Given the description of an element on the screen output the (x, y) to click on. 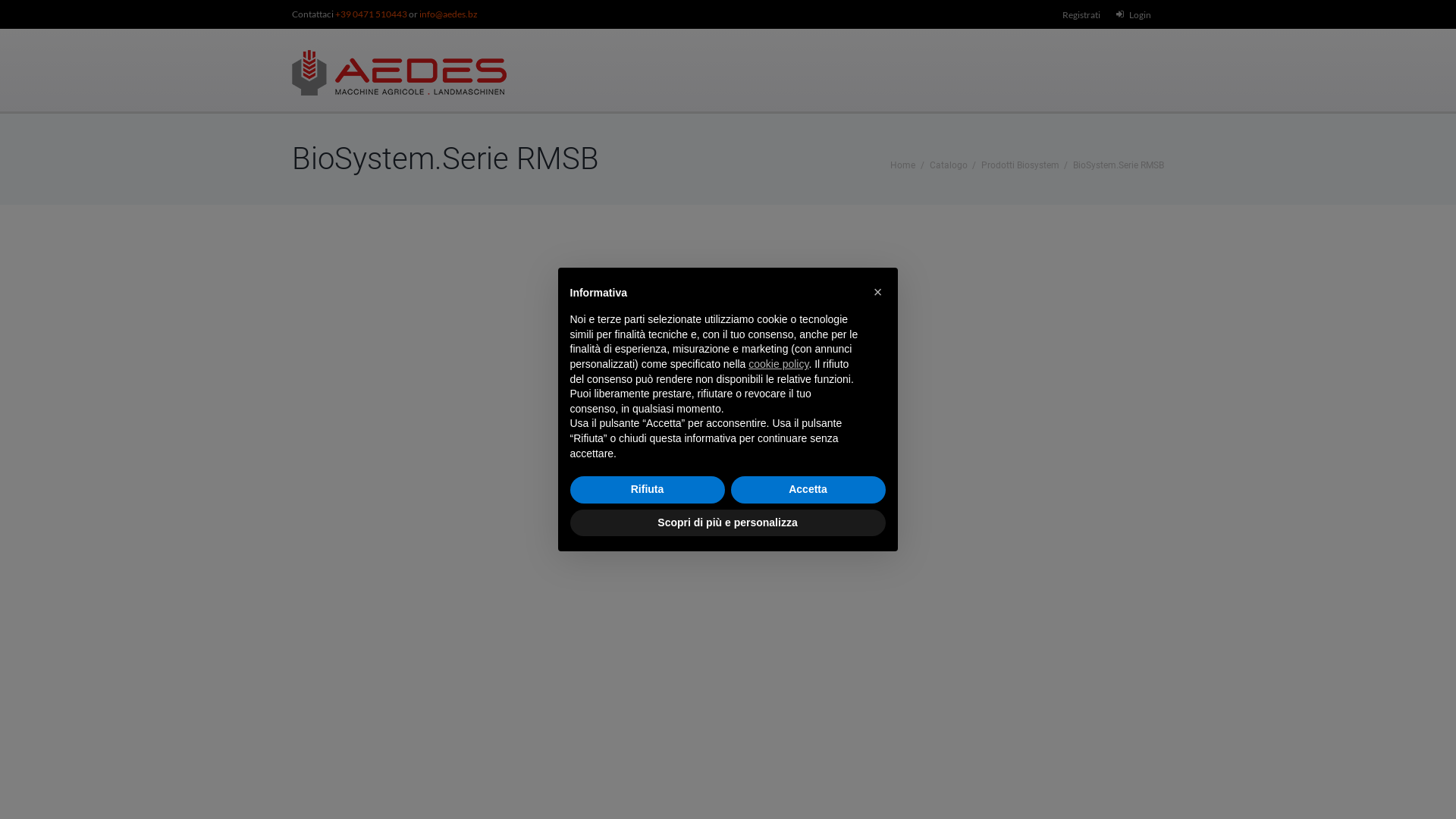
Login Element type: text (1140, 15)
+39 0471 510443 Element type: text (371, 13)
Prodotti Biosystem Element type: text (1020, 164)
Rifiuta Element type: text (647, 489)
info@aedes.bz Element type: text (448, 13)
Catalogo Element type: text (948, 164)
Accetta Element type: text (808, 489)
Registrati Element type: text (1081, 15)
Home Element type: text (902, 164)
cookie policy Element type: text (779, 363)
